Given the description of an element on the screen output the (x, y) to click on. 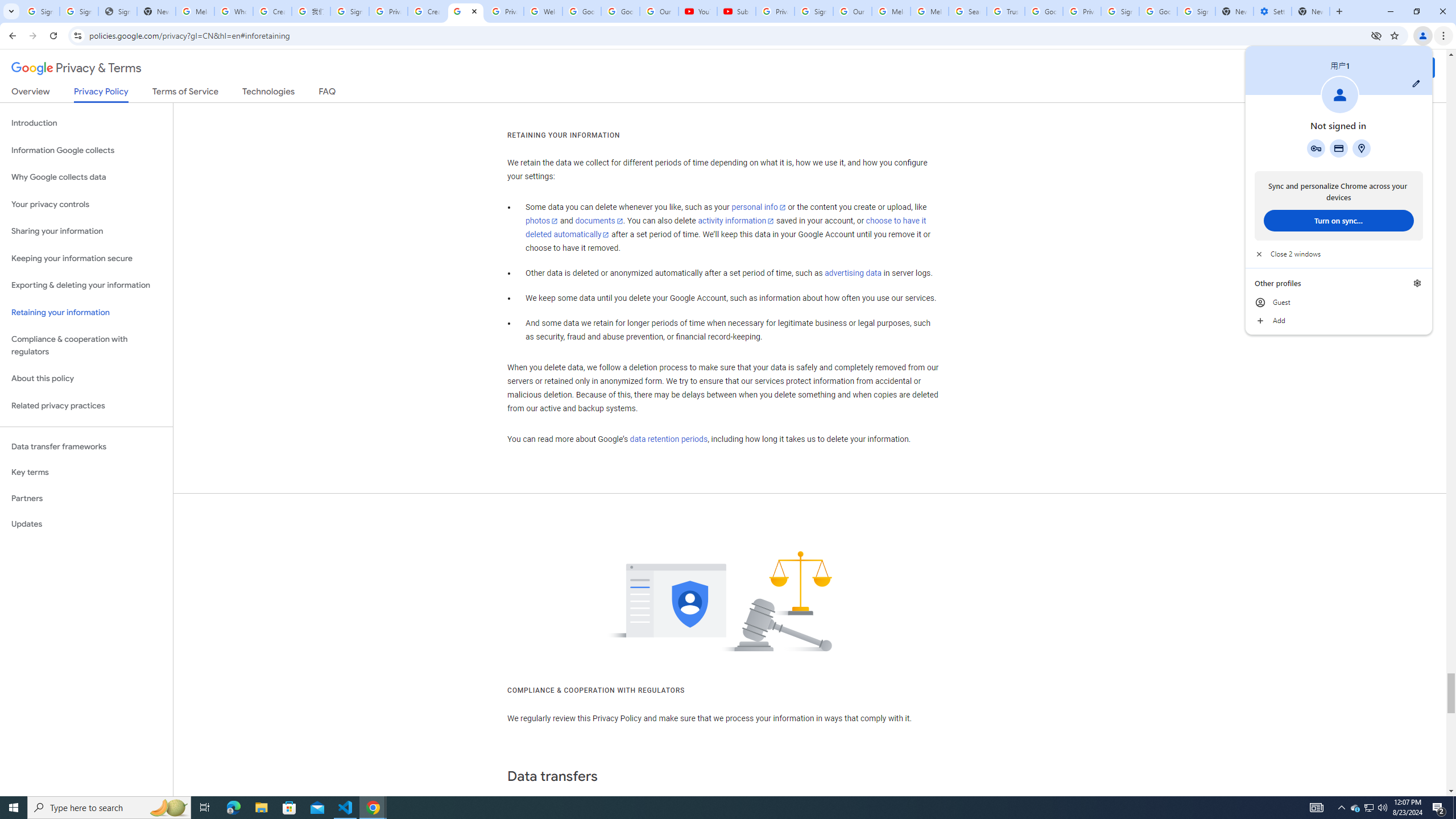
Close 2 windows (1338, 253)
Information Google collects (86, 150)
Show desktop (1454, 807)
Task View (204, 807)
Sign in - Google Accounts (1196, 11)
Search our Doodle Library Collection - Google Doodles (967, 11)
Google Cybersecurity Innovations - Google Safety Center (1158, 11)
Microsoft Edge (233, 807)
personal info (758, 207)
Start (13, 807)
